Given the description of an element on the screen output the (x, y) to click on. 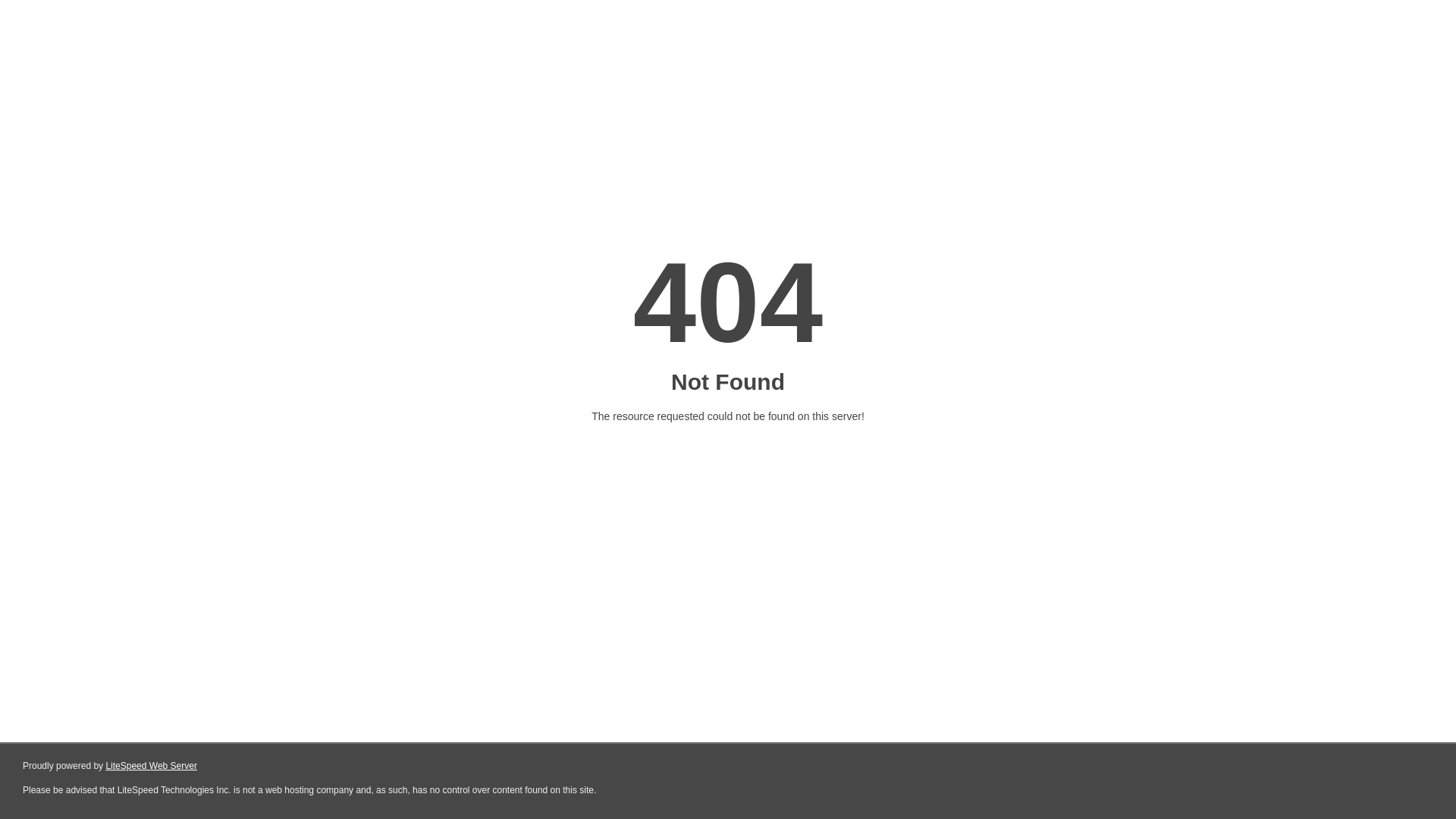
LiteSpeed Web Server Element type: text (151, 765)
